Given the description of an element on the screen output the (x, y) to click on. 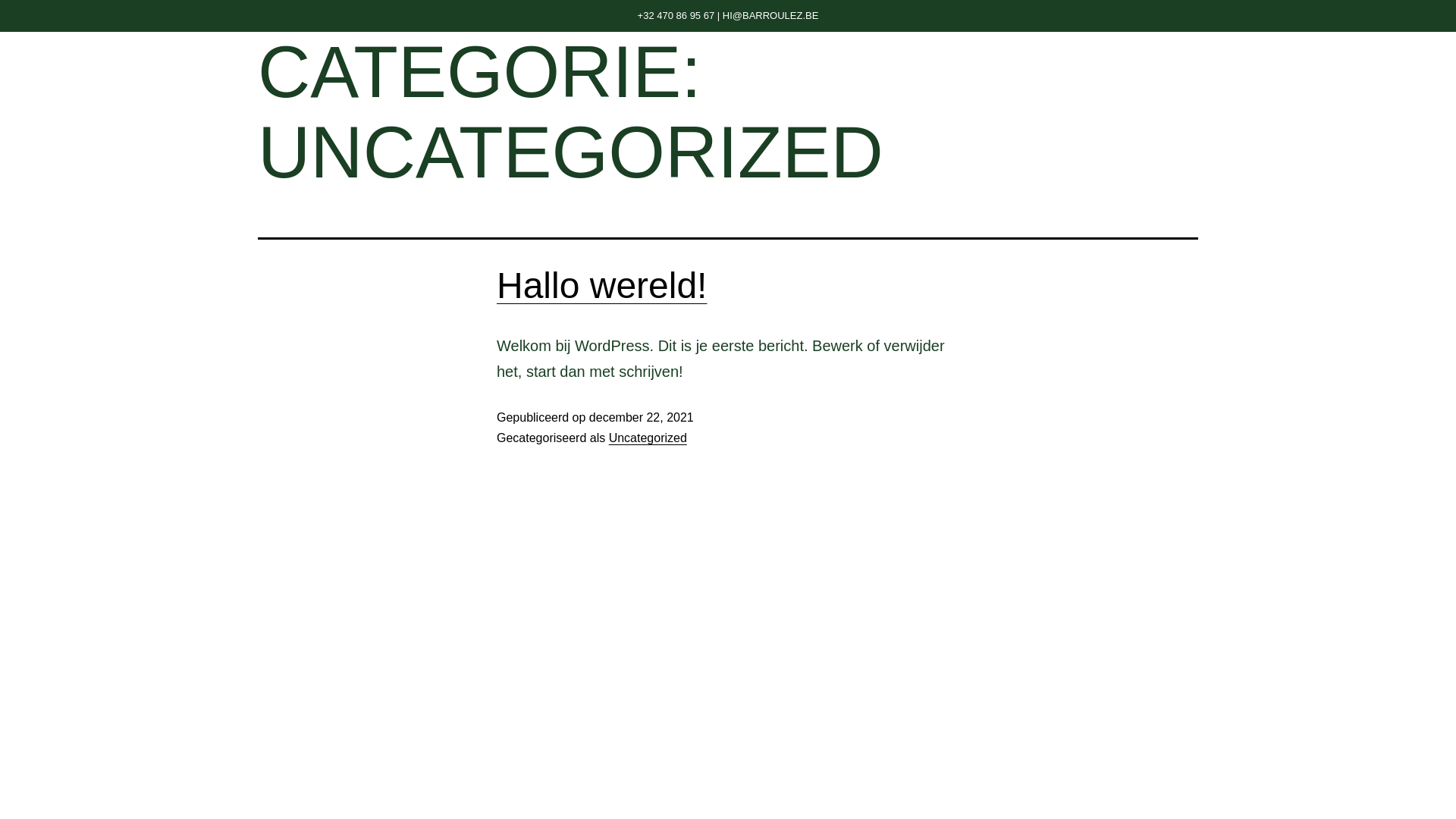
HI@BARROULEZ.BE Element type: text (770, 15)
Uncategorized Element type: text (647, 437)
Hallo wereld! Element type: text (601, 285)
+32 470 86 95 67 Element type: text (676, 15)
